Given the description of an element on the screen output the (x, y) to click on. 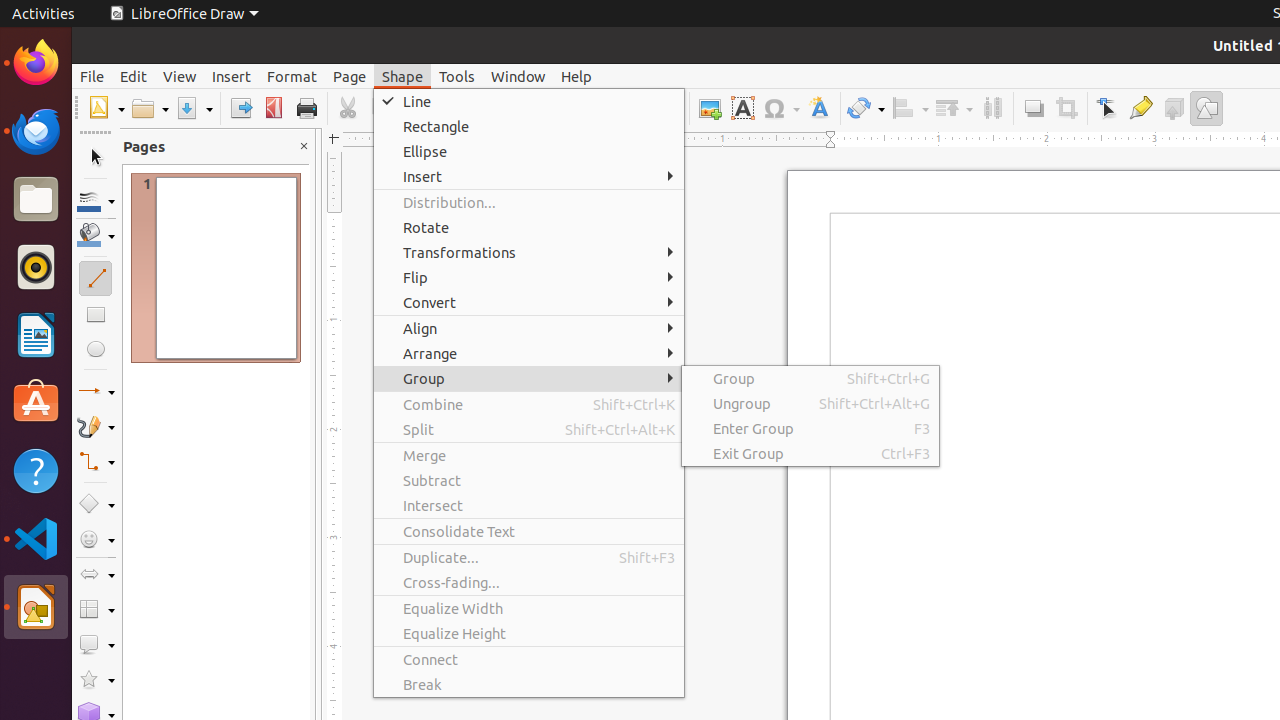
Rhythmbox Element type: push-button (36, 267)
Paste Element type: push-button (419, 108)
Duplicate... Element type: menu-item (529, 557)
Connect Element type: menu-item (529, 659)
Visual Studio Code Element type: push-button (36, 538)
